Given the description of an element on the screen output the (x, y) to click on. 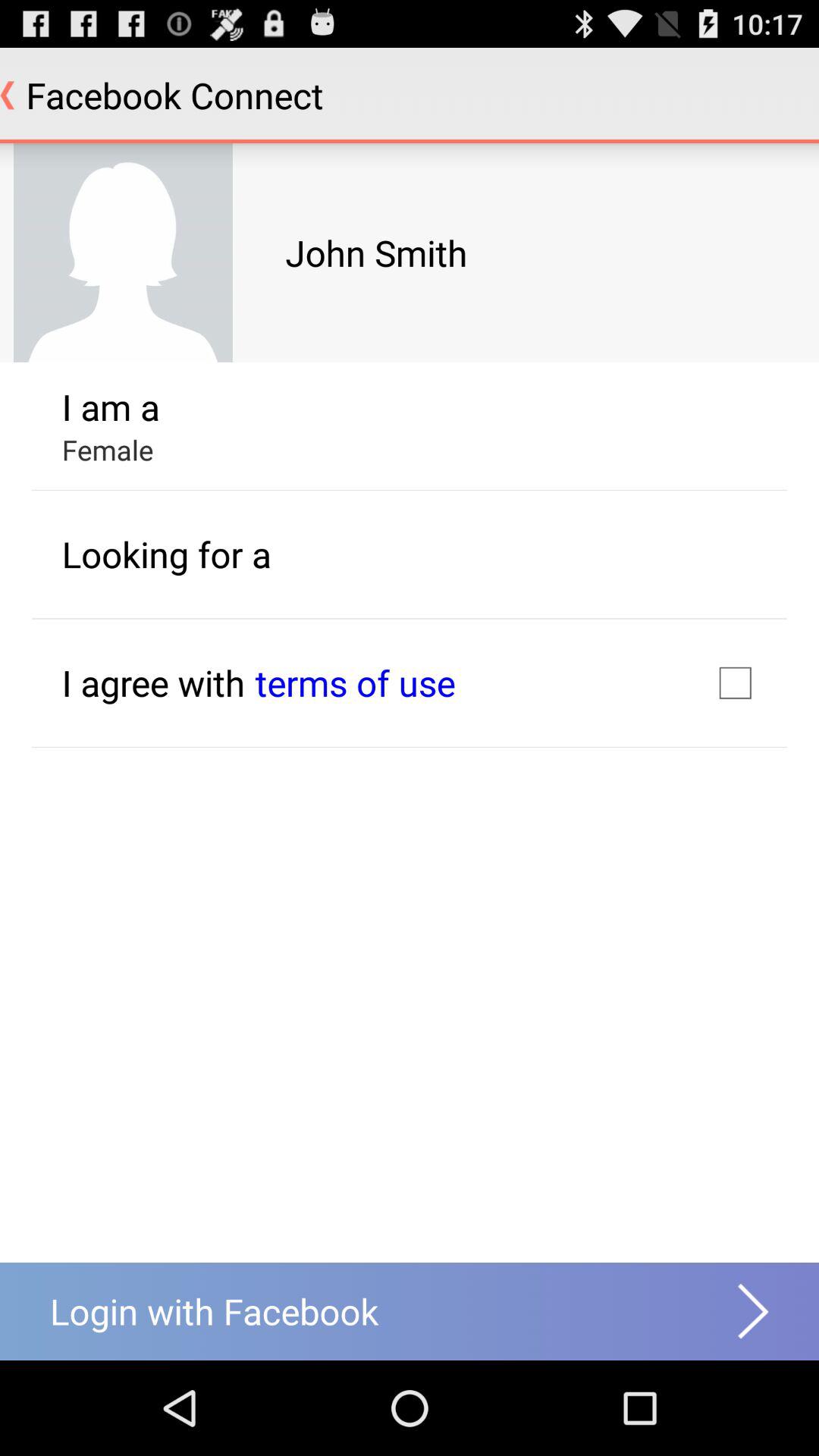
select the item below the female icon (166, 554)
